Given the description of an element on the screen output the (x, y) to click on. 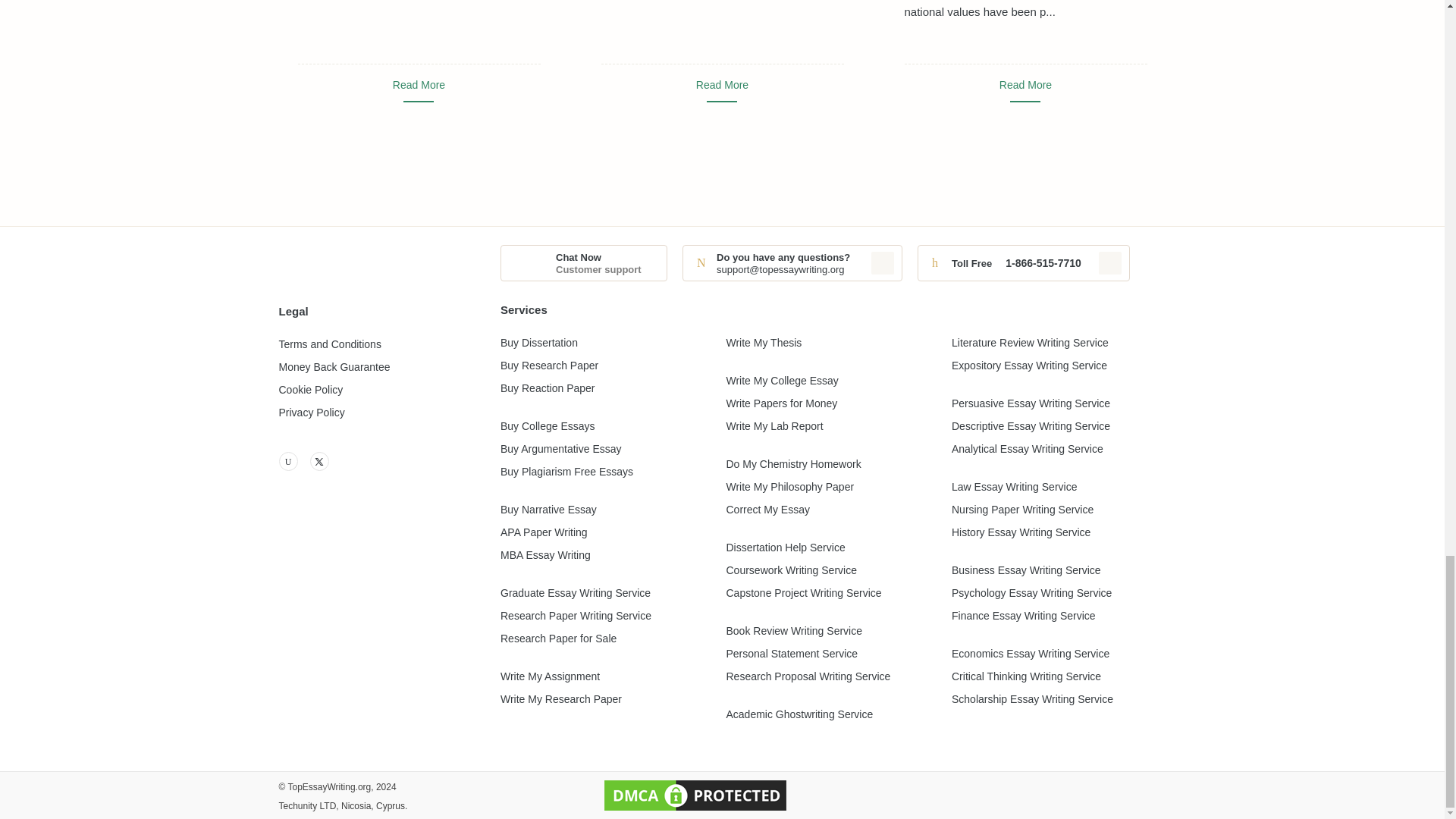
Copied to clipboard (881, 262)
Copied to clipboard (1110, 262)
DMCA.com Protection Status (694, 795)
